Given the description of an element on the screen output the (x, y) to click on. 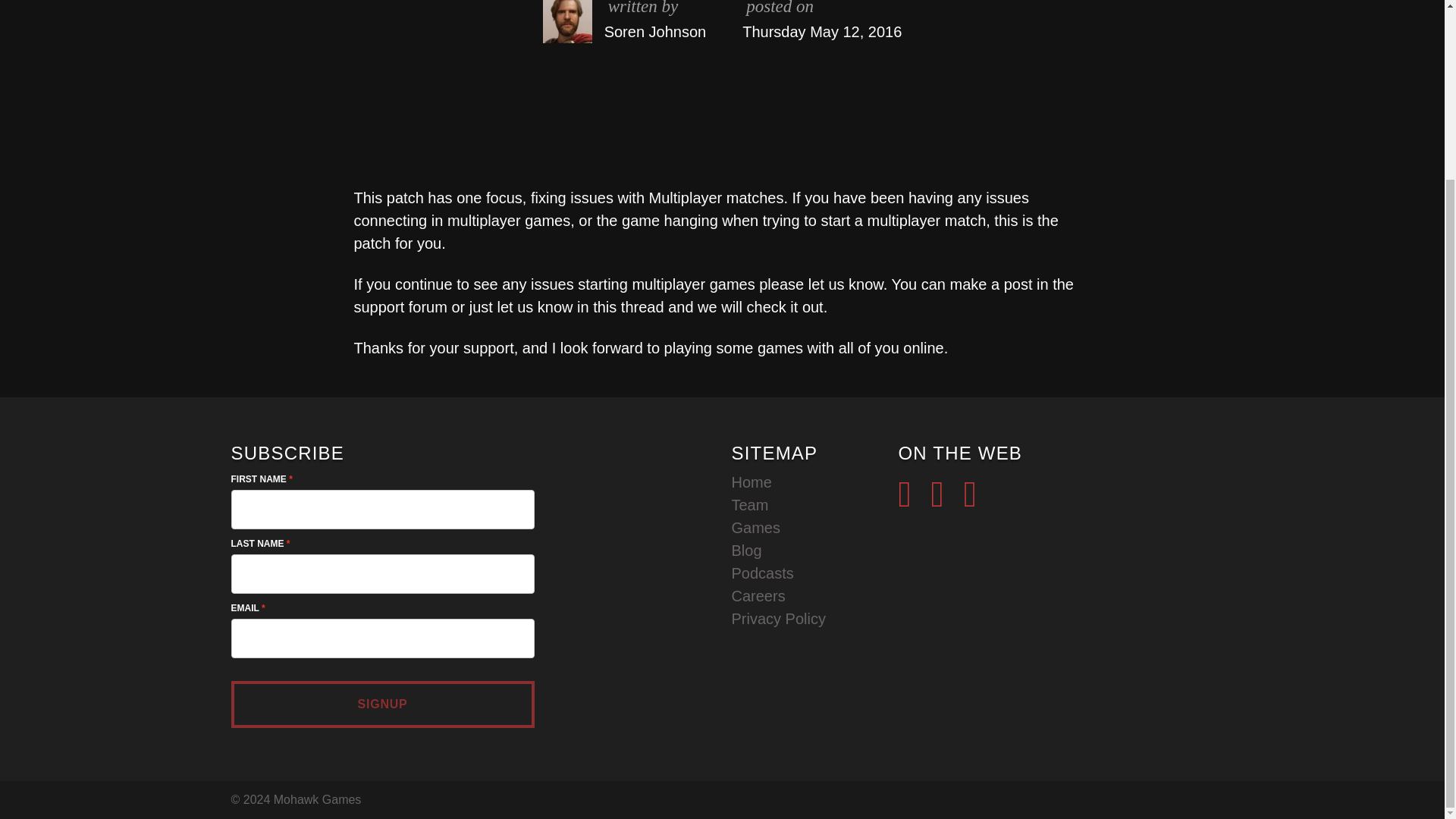
Blog (745, 550)
Team (749, 504)
Home (750, 482)
Podcasts (761, 573)
Games (754, 527)
Careers (757, 596)
SIGNUP (382, 704)
Privacy Policy (777, 618)
